Given the description of an element on the screen output the (x, y) to click on. 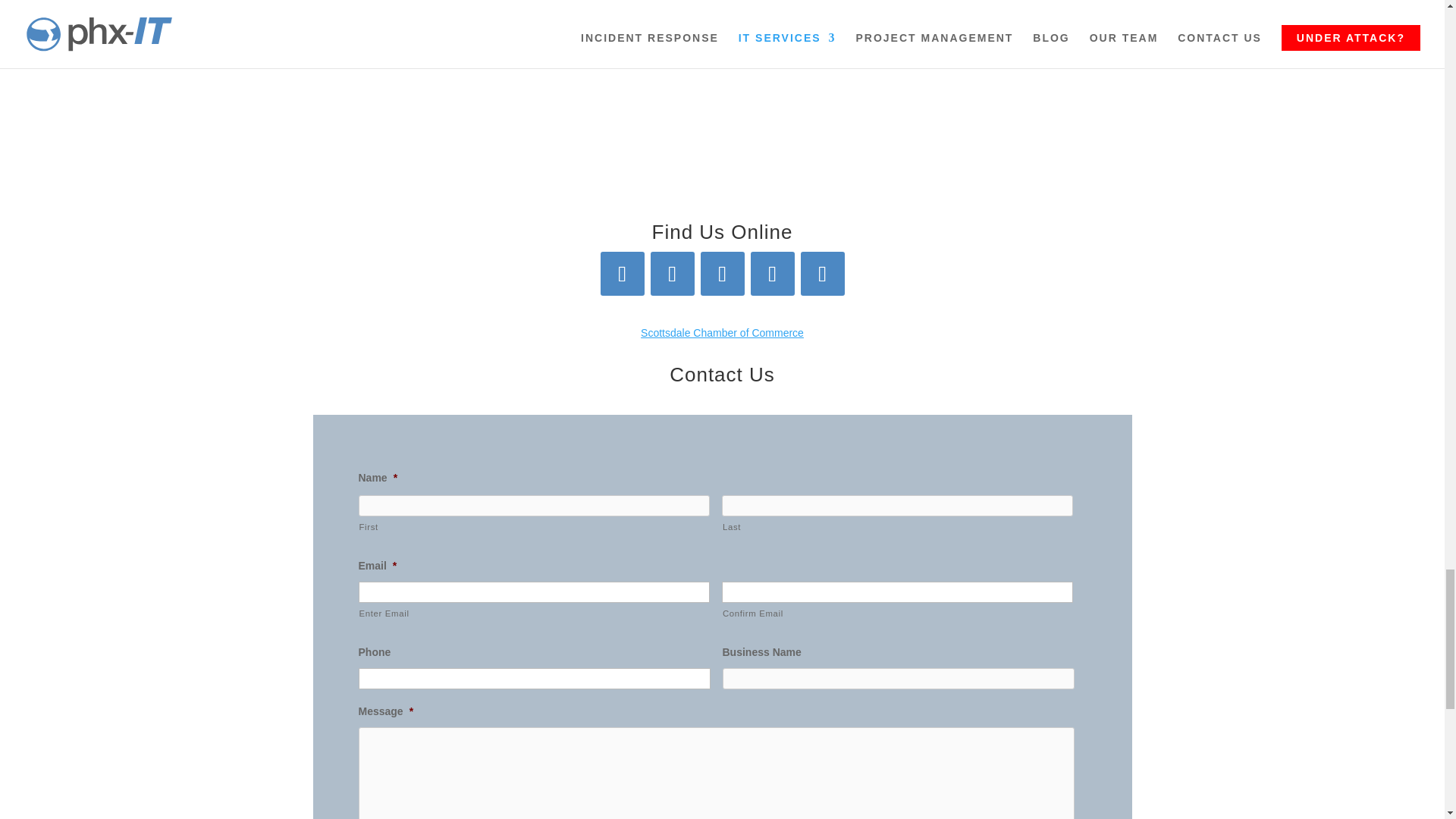
Follow on Facebook (622, 273)
Follow on X (672, 273)
Follow on LinkedIn (722, 273)
